Given the description of an element on the screen output the (x, y) to click on. 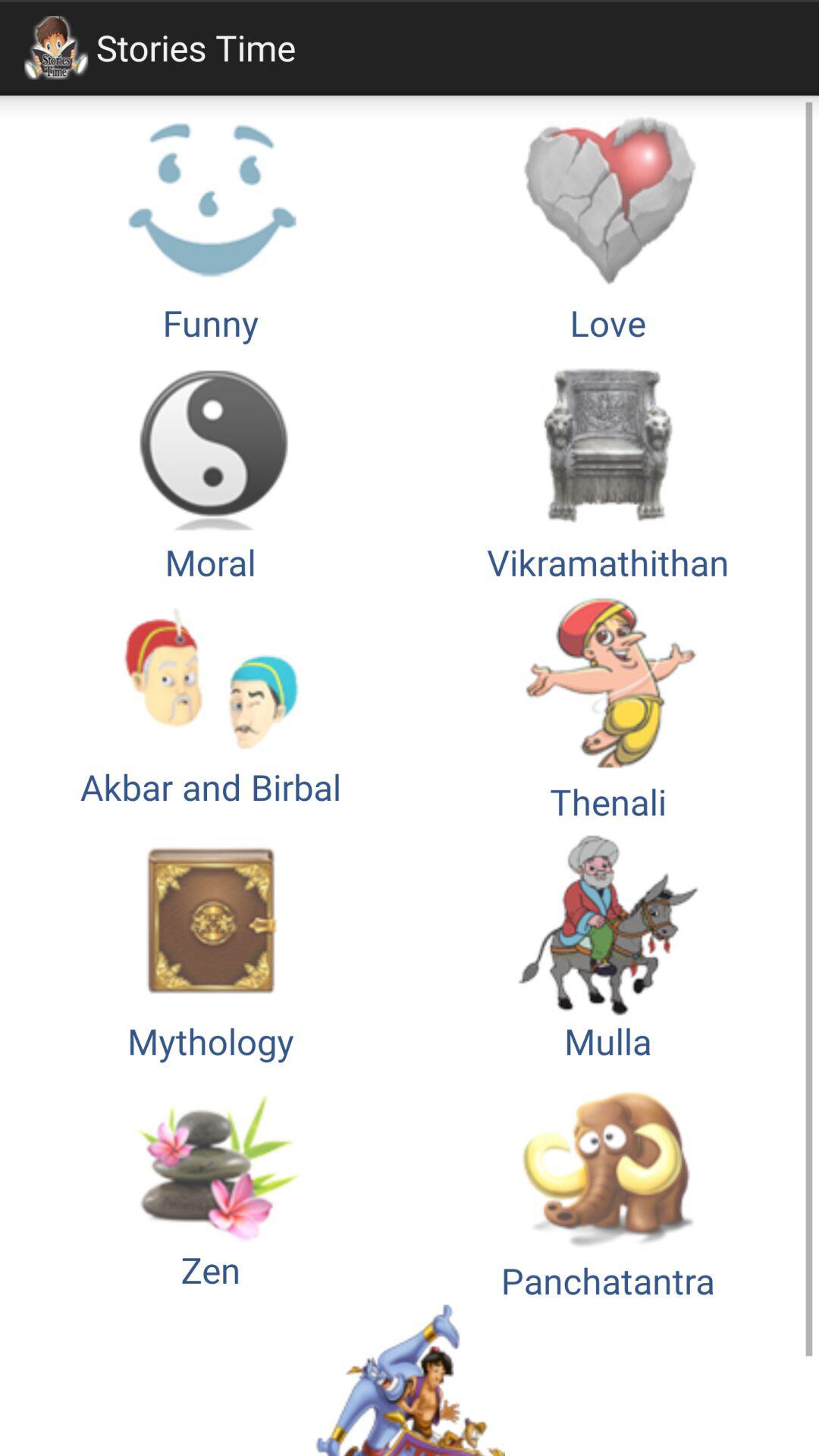
tap the icon above the tales (210, 1184)
